Given the description of an element on the screen output the (x, y) to click on. 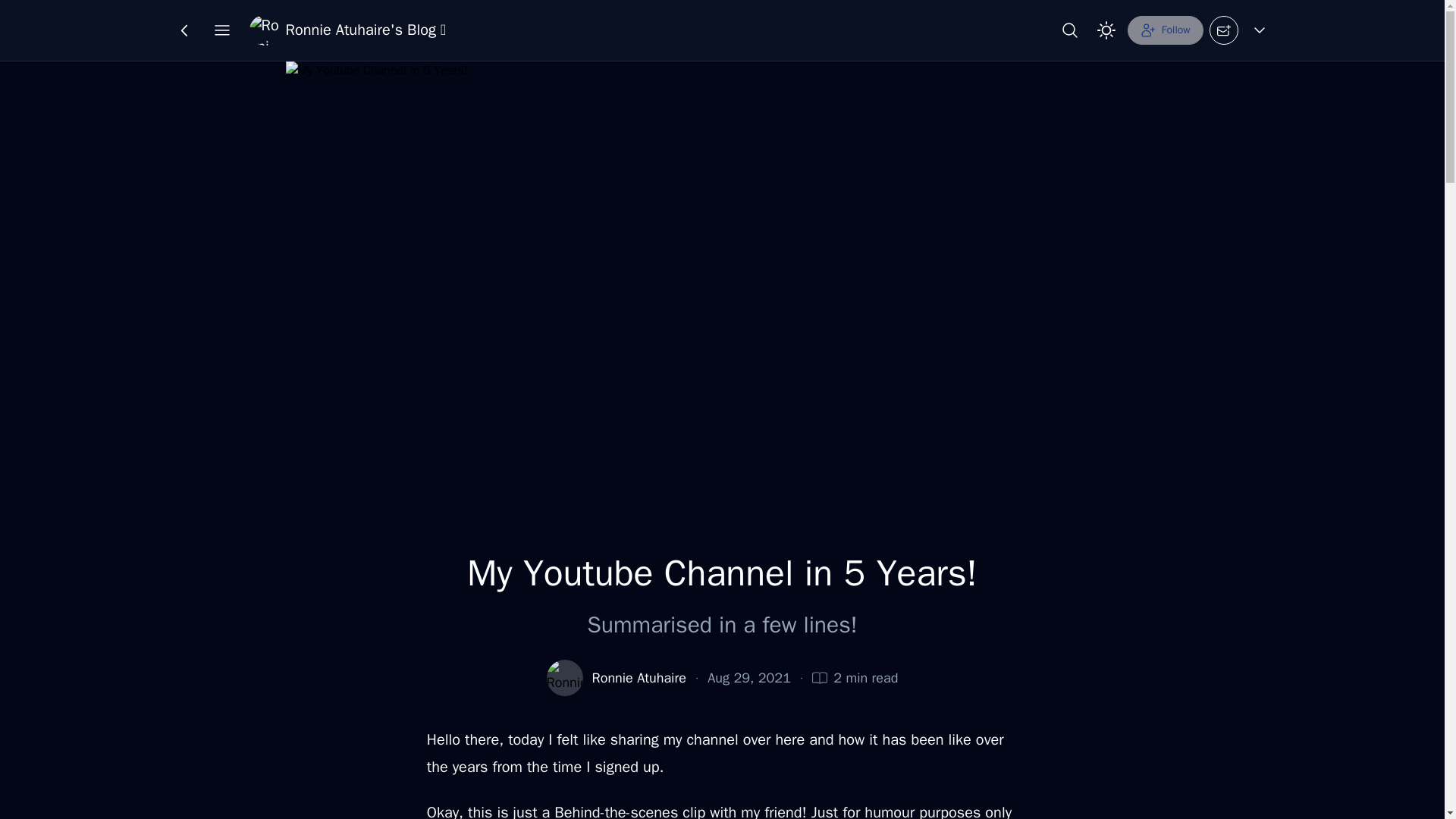
Follow (1165, 30)
Ronnie Atuhaire (638, 677)
Aug 29, 2021 (748, 677)
